Given the description of an element on the screen output the (x, y) to click on. 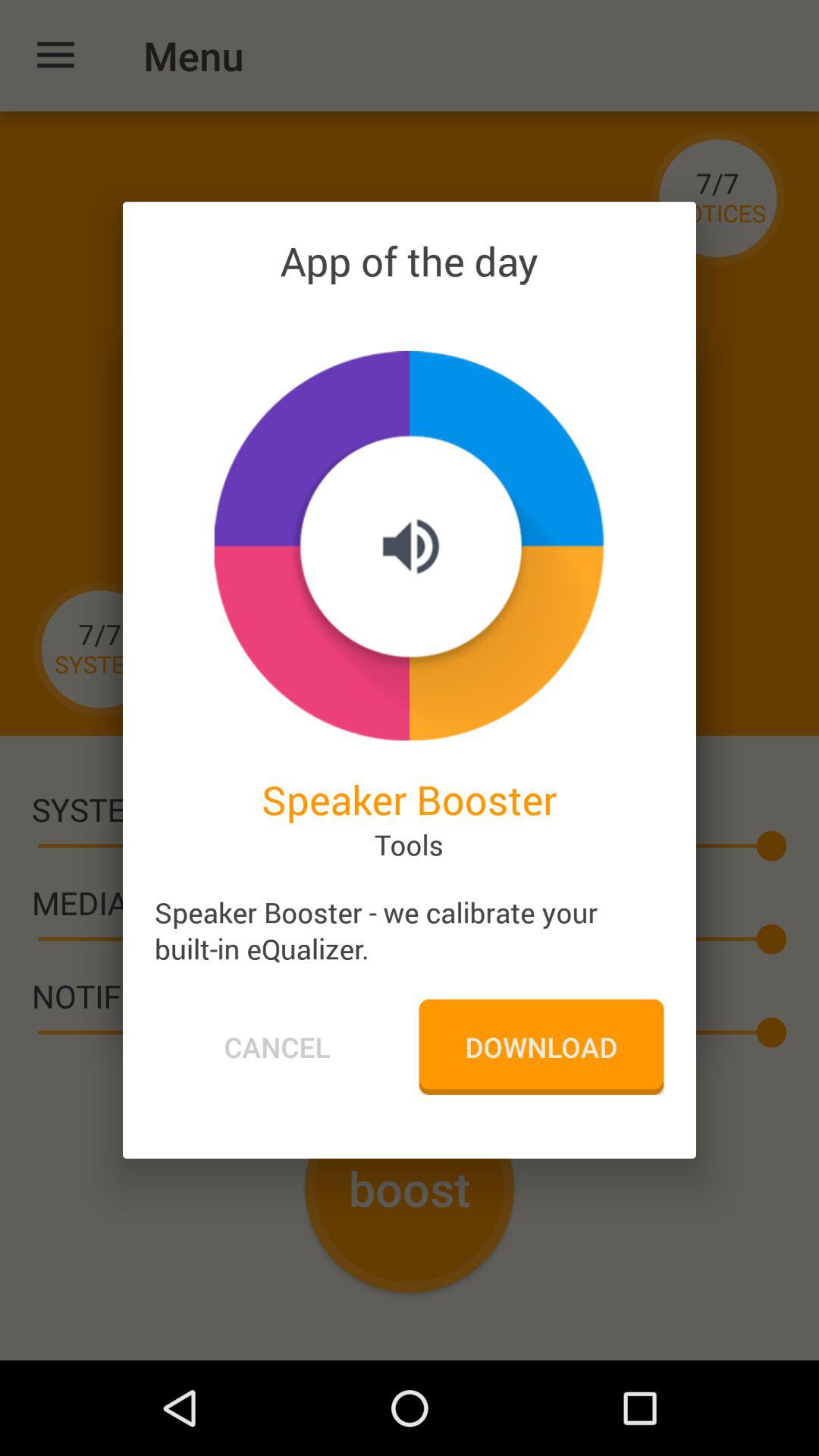
flip until cancel (276, 1046)
